Given the description of an element on the screen output the (x, y) to click on. 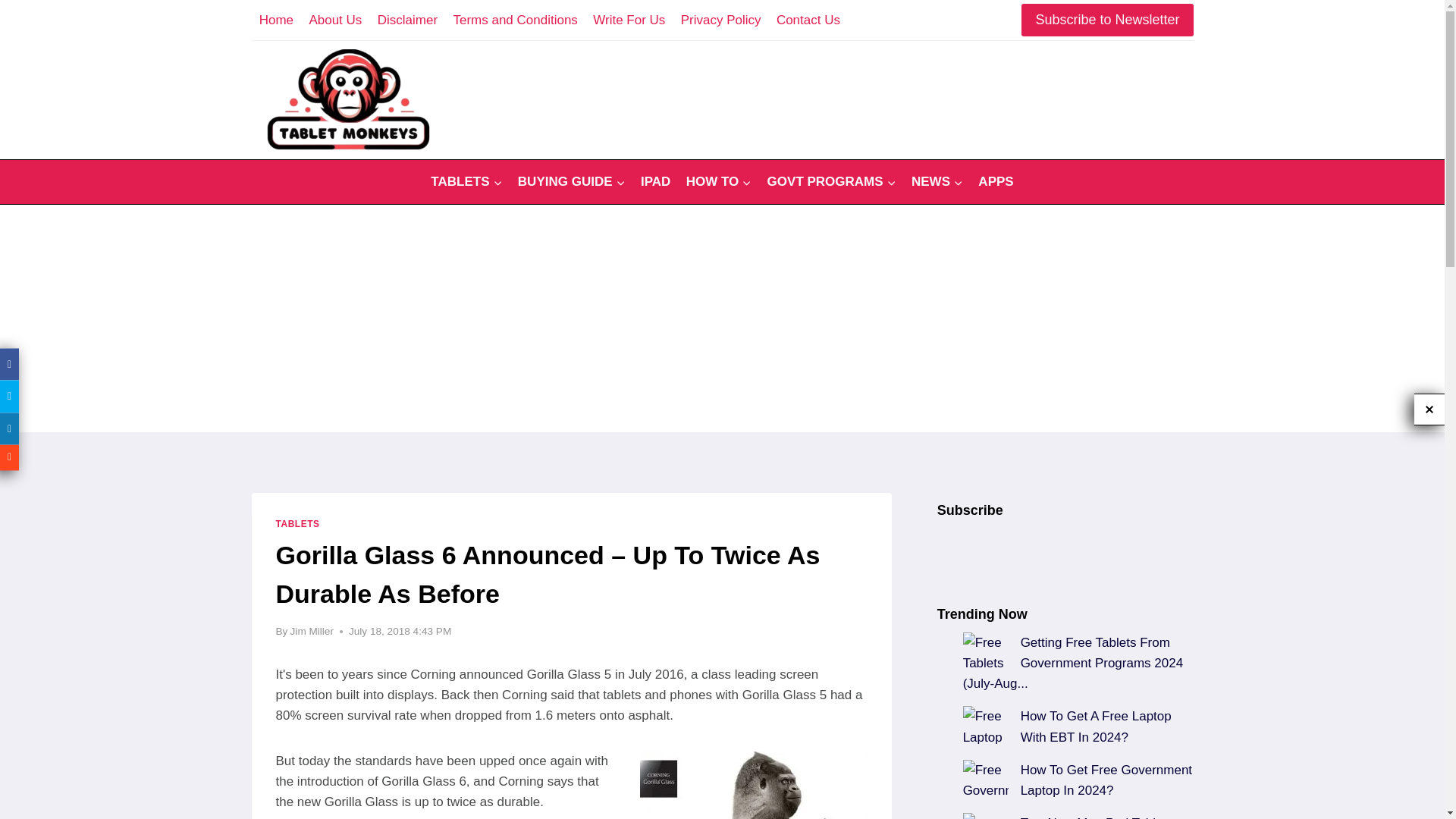
Privacy Policy (720, 19)
TABLETS (467, 181)
Home (276, 19)
About Us (335, 19)
TABLETS (298, 523)
Disclaimer (407, 19)
GOVT PROGRAMS (830, 181)
Contact Us (807, 19)
Jim Miller (311, 631)
NEWS (937, 181)
IPAD (655, 181)
Subscribe to Newsletter (1107, 20)
APPS (996, 181)
Terms and Conditions (515, 19)
